Given the description of an element on the screen output the (x, y) to click on. 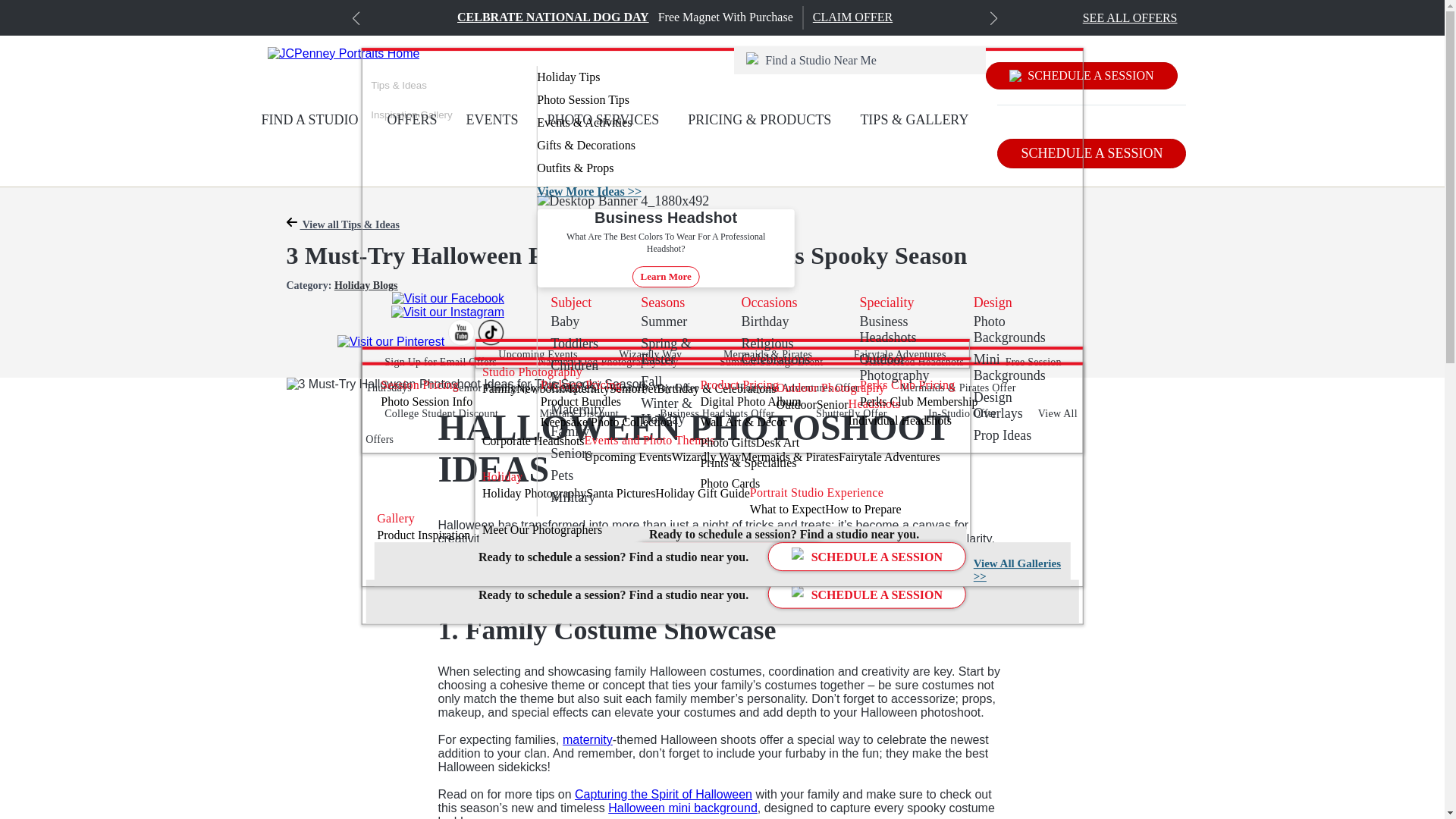
Wizardly Way Offer (653, 387)
Summer Savings Event (770, 361)
CLAIM OFFER (852, 16)
Offers (440, 361)
View All Offers (721, 426)
Half Priced Headshots (913, 361)
Military Discount (579, 413)
CELBRATE NATIONAL DOG DAY (553, 16)
FIND A STUDIO (309, 119)
SCHEDULE A SESSION (1080, 75)
OFFERS (412, 119)
Fairytale Adventures Offer (798, 387)
Business Headshots Offer (716, 413)
Free Session Thursdays (713, 374)
EVENTS (491, 119)
